Given the description of an element on the screen output the (x, y) to click on. 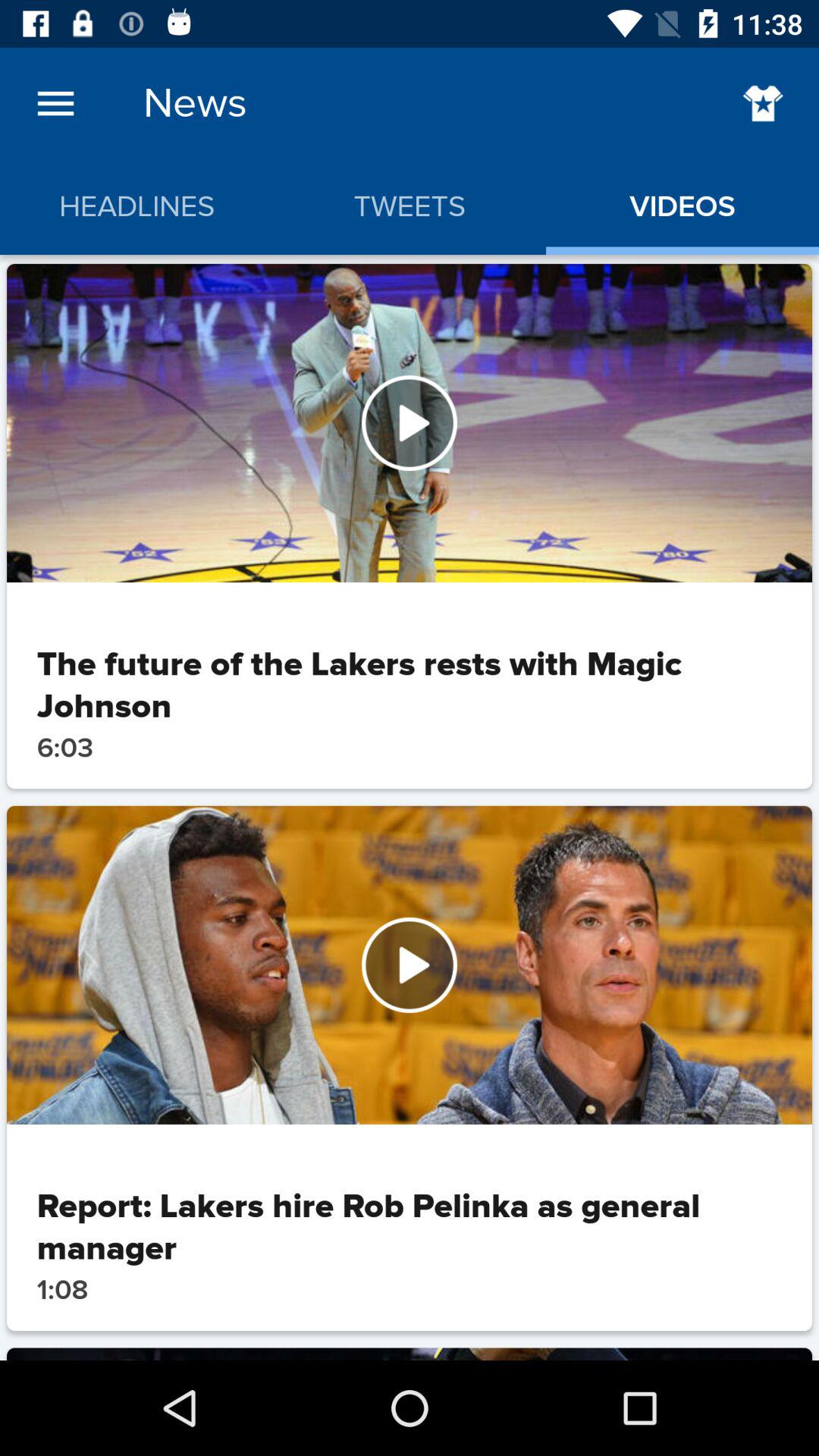
because back devicer (409, 964)
